Given the description of an element on the screen output the (x, y) to click on. 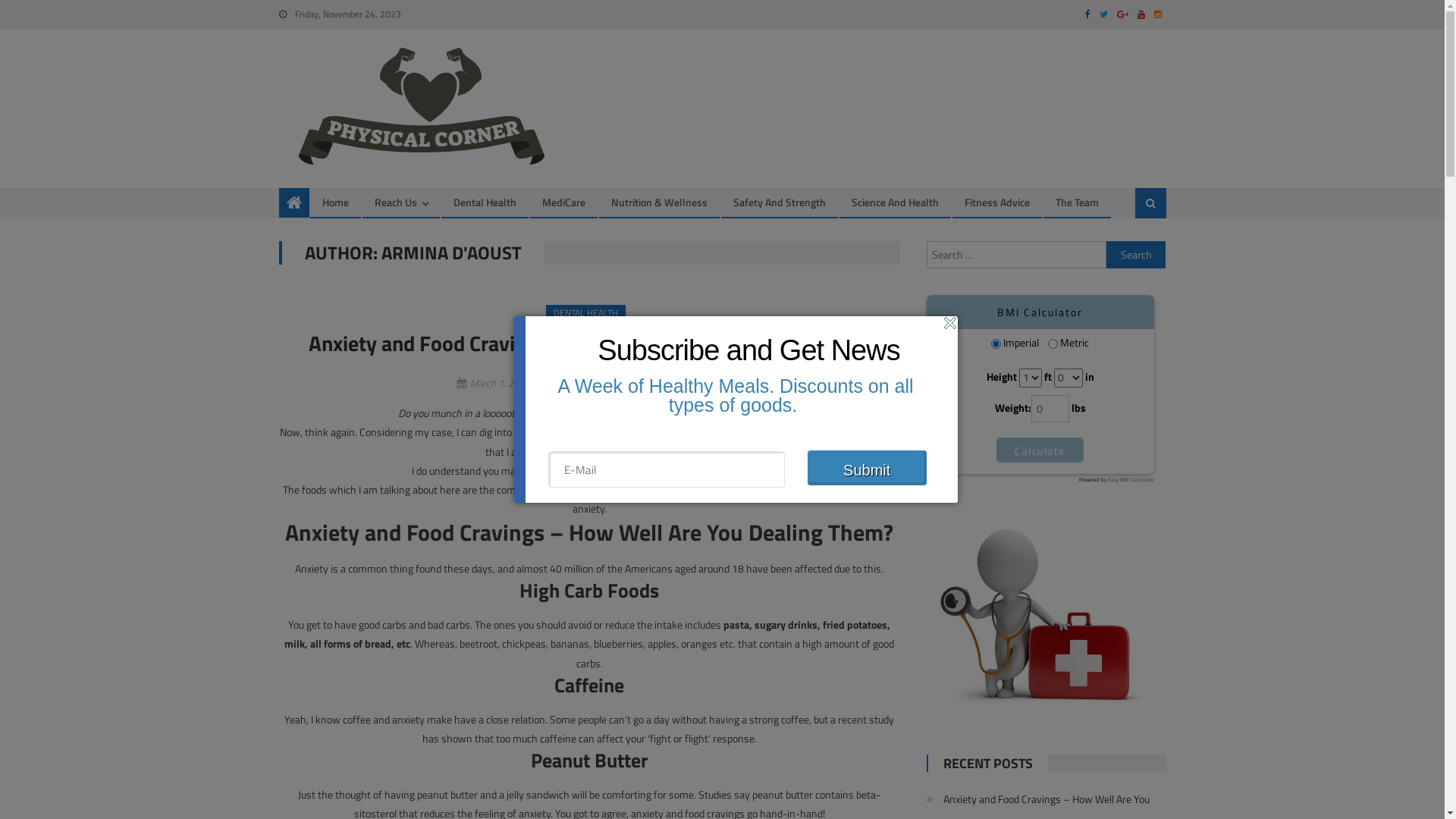
Science And Health Element type: text (895, 202)
Safety And Strength Element type: text (779, 202)
Comment(0) Element type: text (680, 382)
Dental Health Element type: text (484, 202)
Nutrition & Wellness Element type: text (658, 202)
March 1, 2019 Element type: text (499, 382)
DENTAL HEALTH Element type: text (585, 312)
The Team Element type: text (1076, 202)
MediCare Element type: text (563, 202)
Easy BMI Calculator Element type: text (1130, 479)
Fitness Advice Element type: text (996, 202)
Search Element type: text (1136, 254)
Home Element type: text (335, 202)
Search Element type: text (1133, 253)
Reach Us Element type: text (394, 202)
Submit Element type: text (865, 467)
Calculate Element type: text (1039, 449)
Armina D'Aoust Element type: text (591, 382)
